Given the description of an element on the screen output the (x, y) to click on. 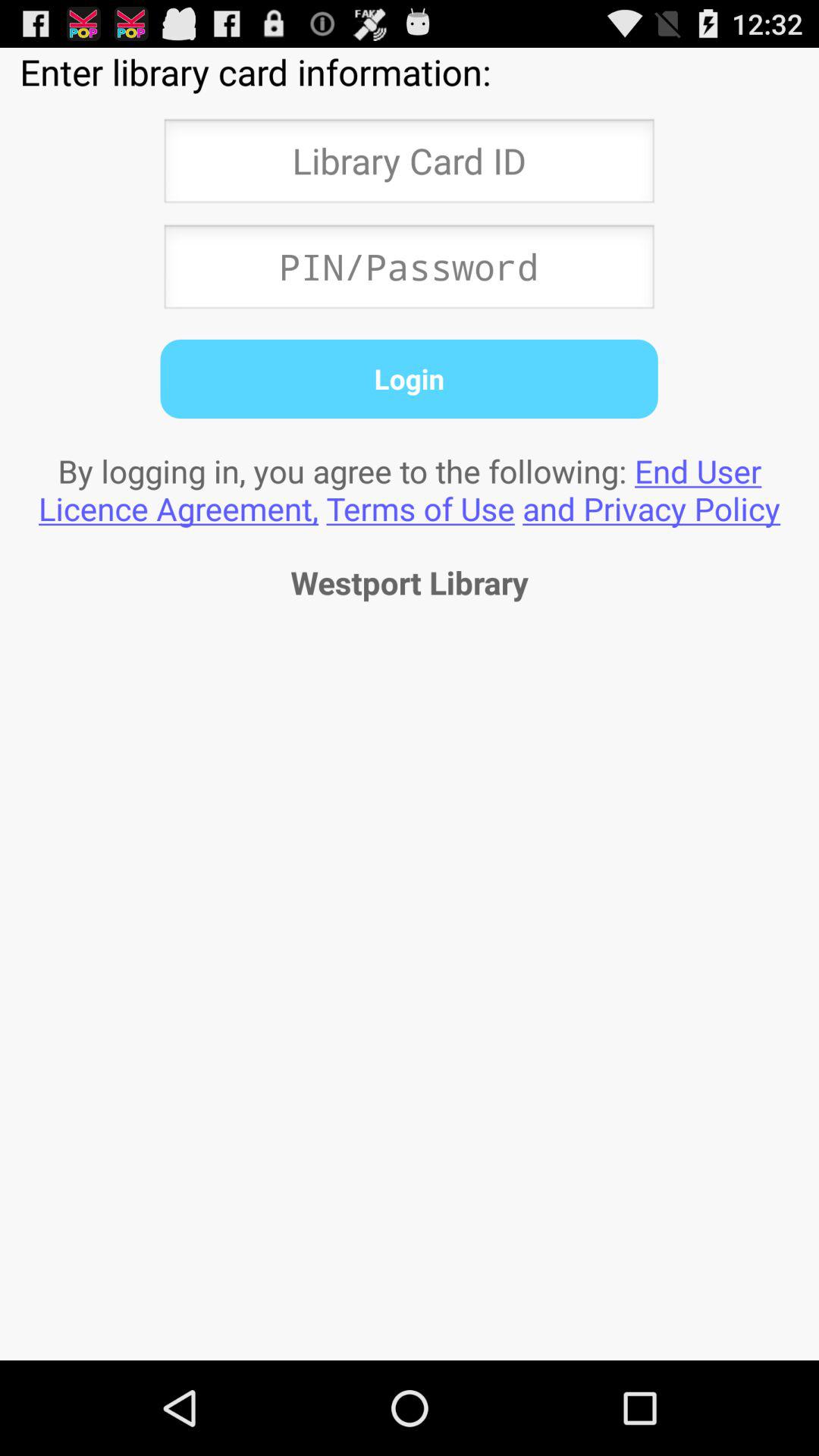
jump until by logging in app (409, 489)
